Given the description of an element on the screen output the (x, y) to click on. 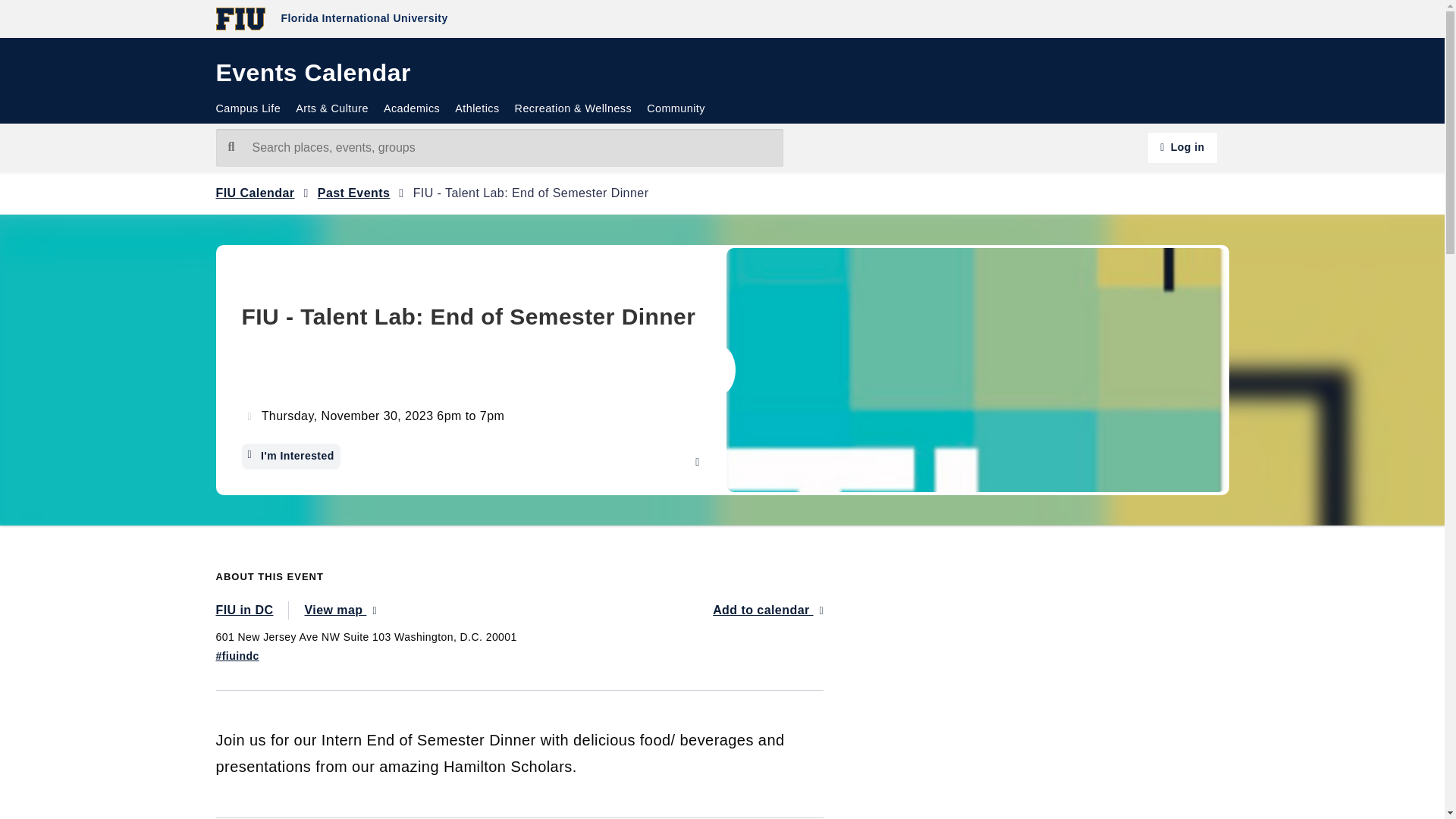
I'm Interested (290, 456)
Log in (1181, 147)
Add to calendar (768, 610)
Campus Life (251, 108)
View map (339, 610)
Academics (410, 108)
Community (676, 108)
Past Events (353, 192)
Events Calendar (312, 76)
FIU in DC (251, 610)
